Given the description of an element on the screen output the (x, y) to click on. 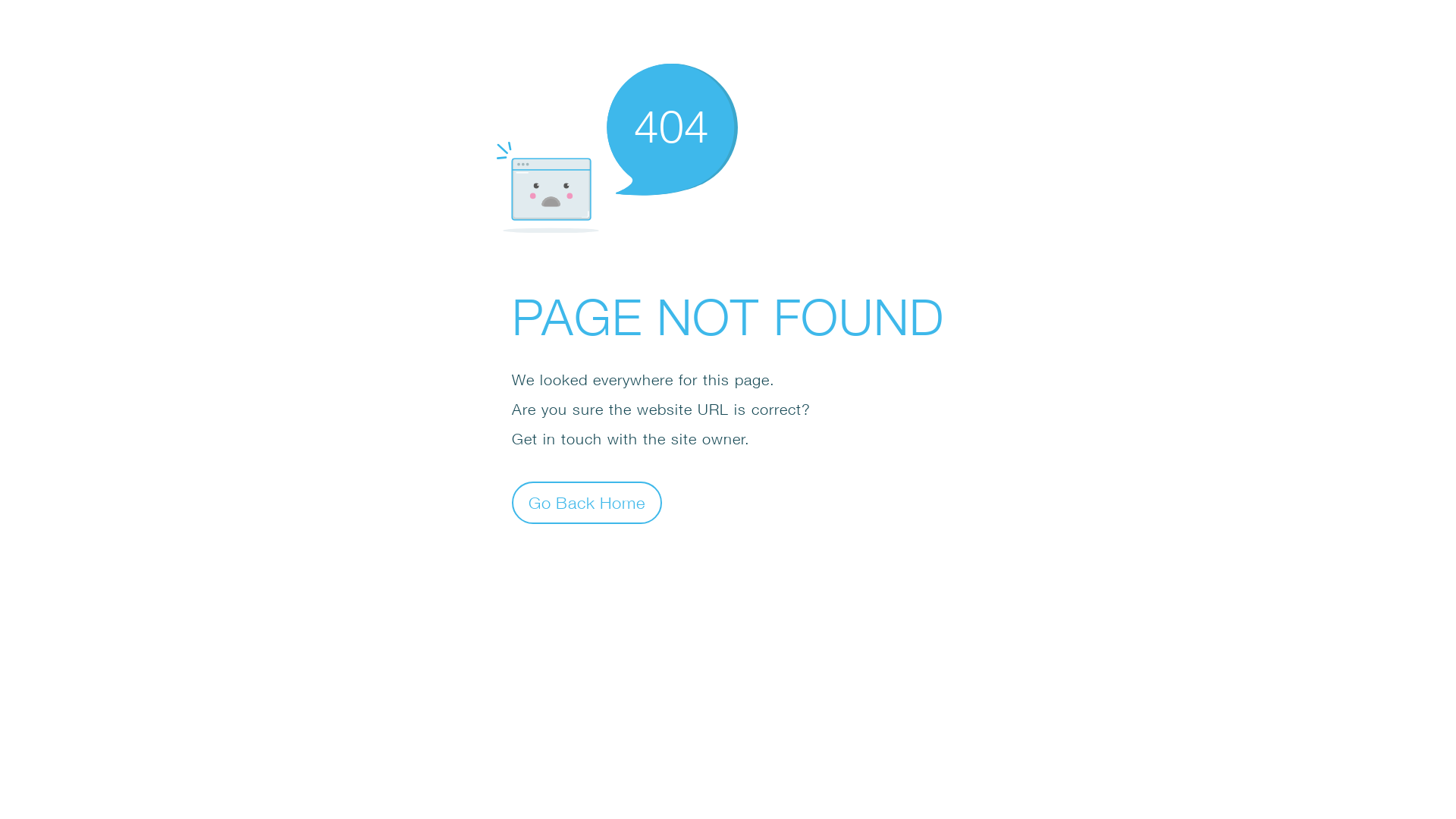
Go Back Home Element type: text (586, 502)
